Given the description of an element on the screen output the (x, y) to click on. 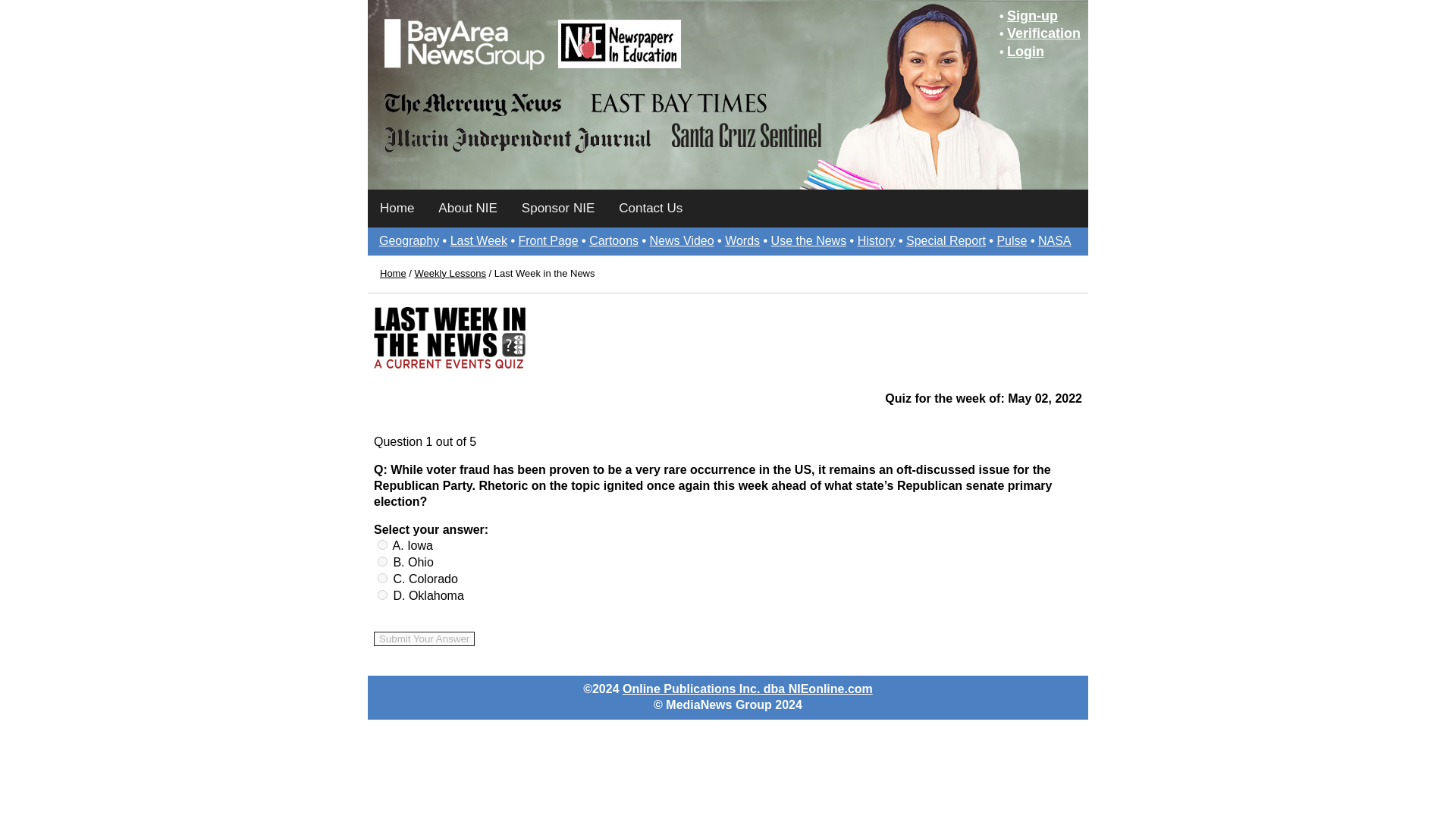
4713 (382, 544)
NASA (1054, 240)
About NIE (467, 208)
News Video (681, 240)
Home (397, 208)
History (876, 240)
Pulse (1010, 240)
Contact Us (650, 208)
Login (1025, 51)
Last Week (477, 240)
